Given the description of an element on the screen output the (x, y) to click on. 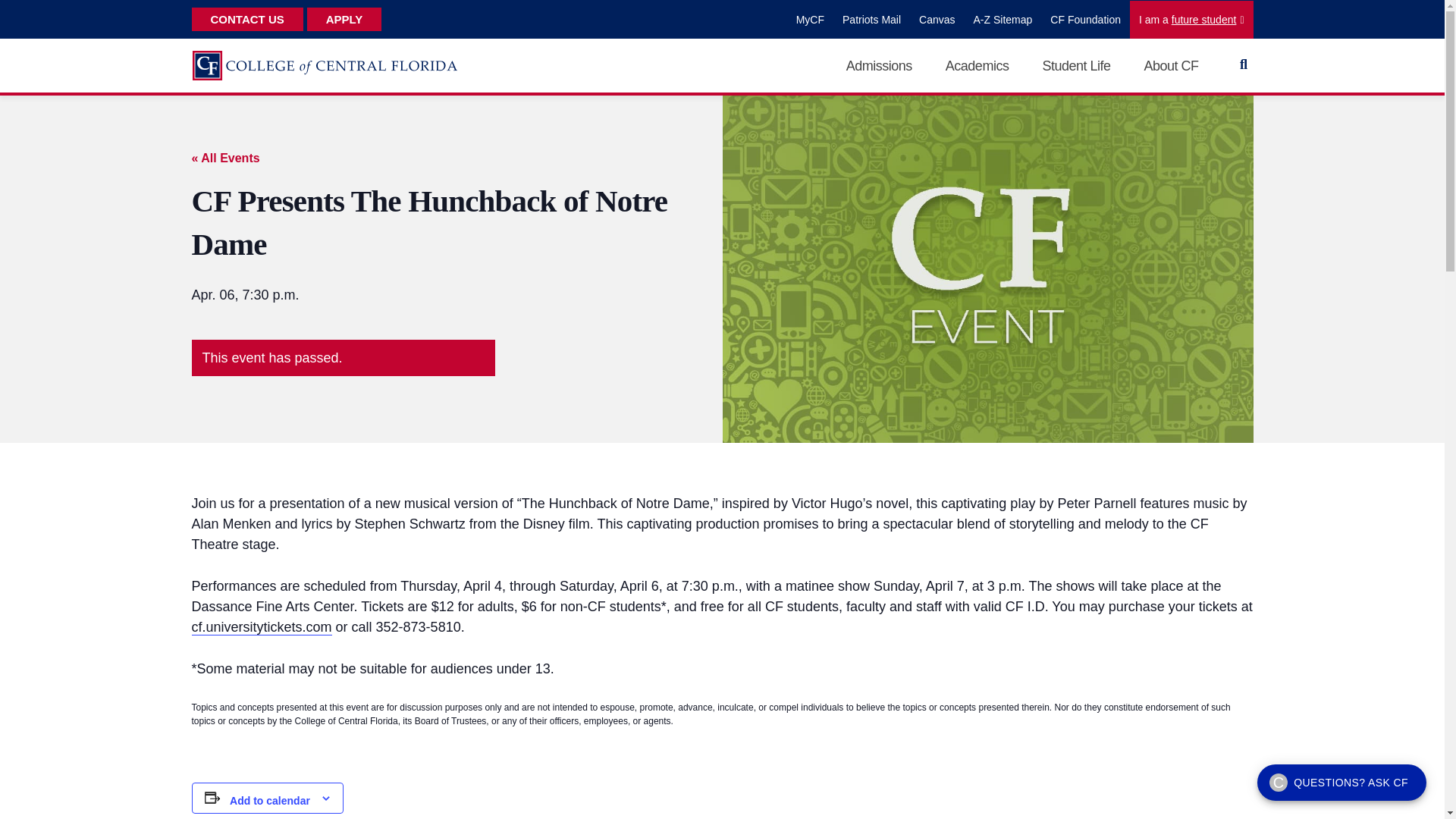
Academics (977, 65)
APPLY (344, 19)
CONTACT US (246, 19)
Admissions (878, 65)
